Given the description of an element on the screen output the (x, y) to click on. 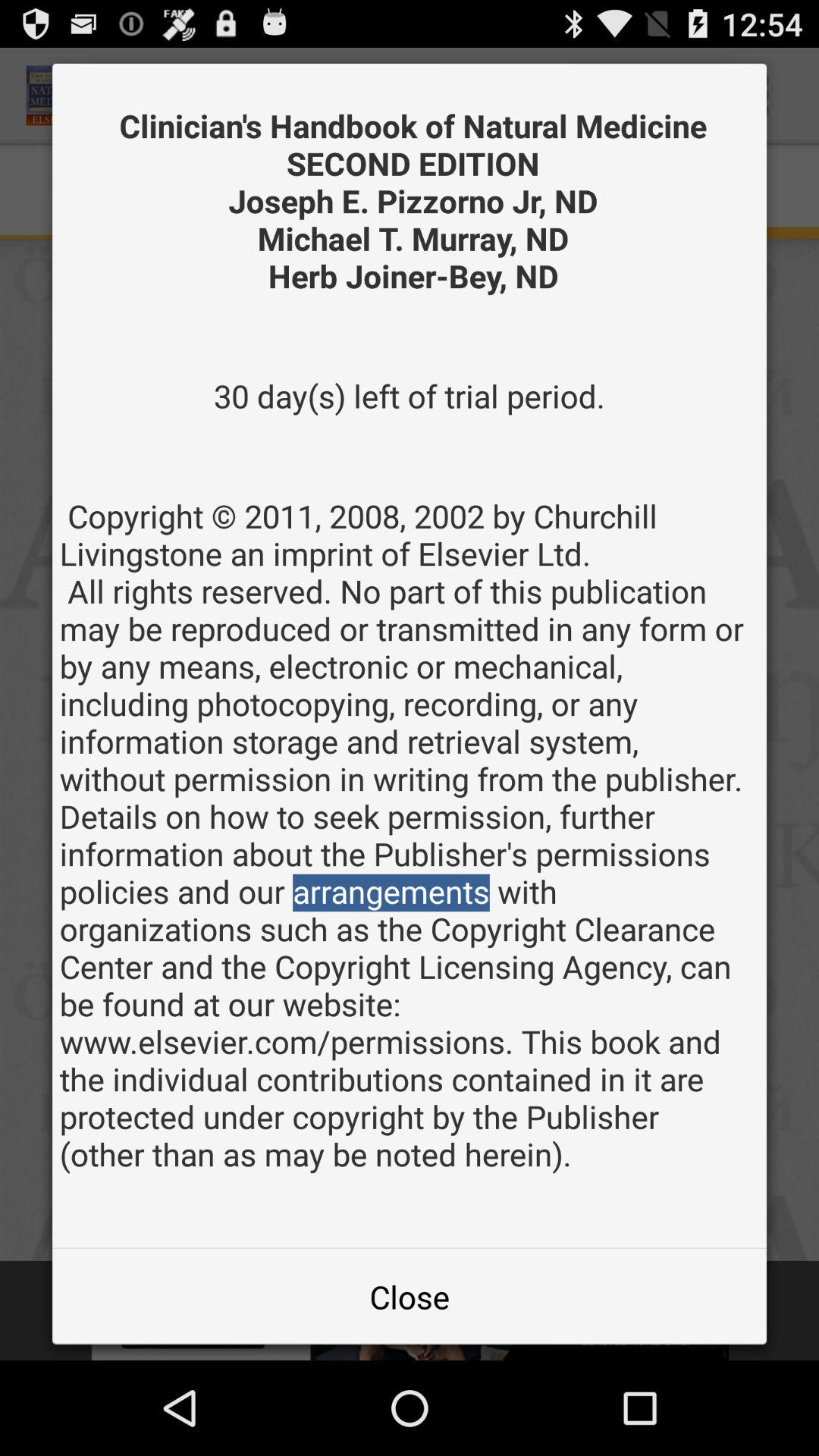
tap the item at the bottom (409, 1296)
